Given the description of an element on the screen output the (x, y) to click on. 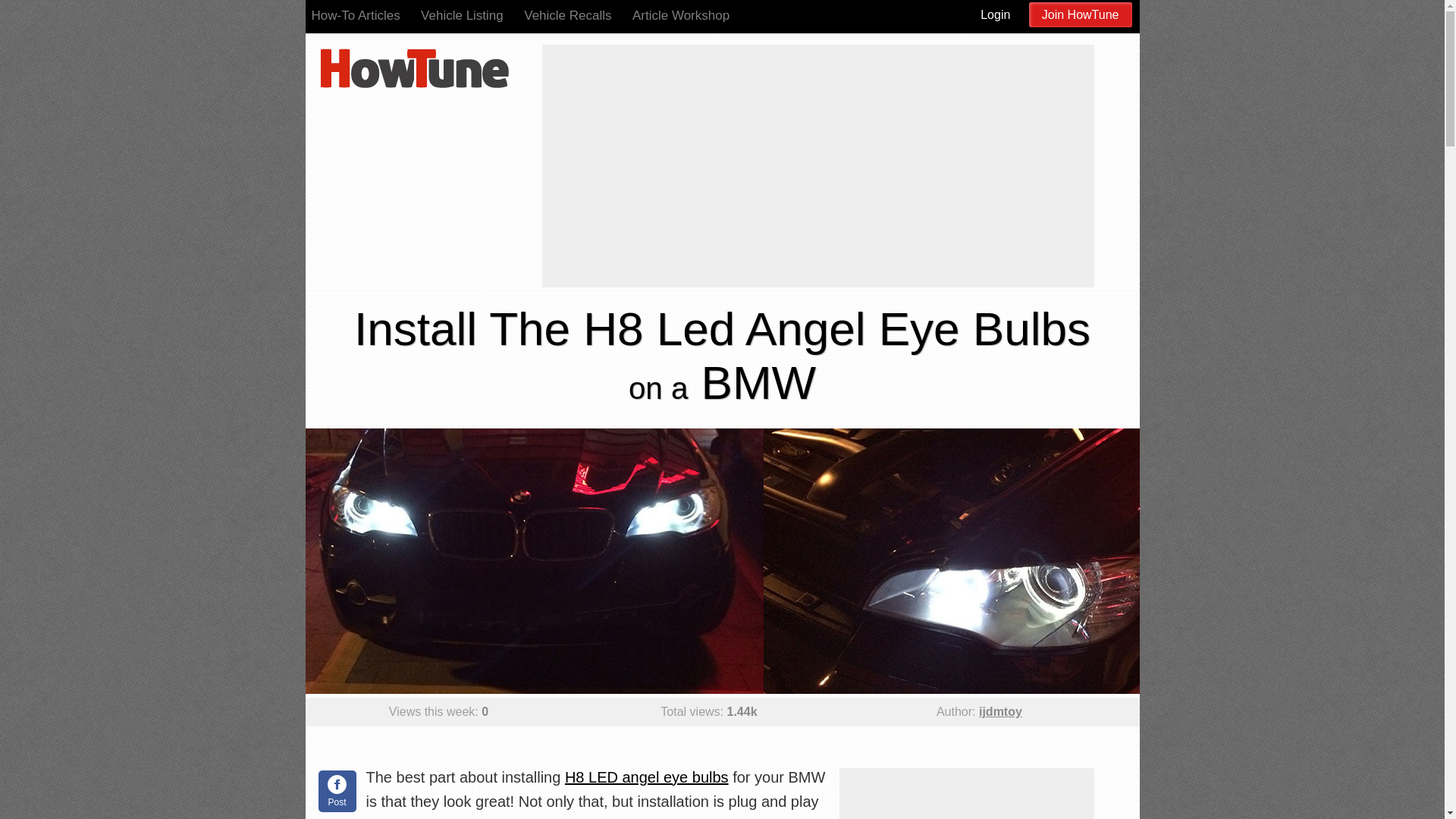
Home (414, 67)
ijdmtoy (1000, 711)
Article Workshop (680, 15)
How-To Articles (354, 15)
Vehicle Listing (461, 15)
Advertisement (965, 793)
Login (994, 14)
Vehicle Recalls (567, 15)
Post (337, 791)
Advertisement (817, 151)
HowTune (414, 67)
H8 LED angel eye bulbs (646, 777)
Join HowTune (1080, 14)
